Given the description of an element on the screen output the (x, y) to click on. 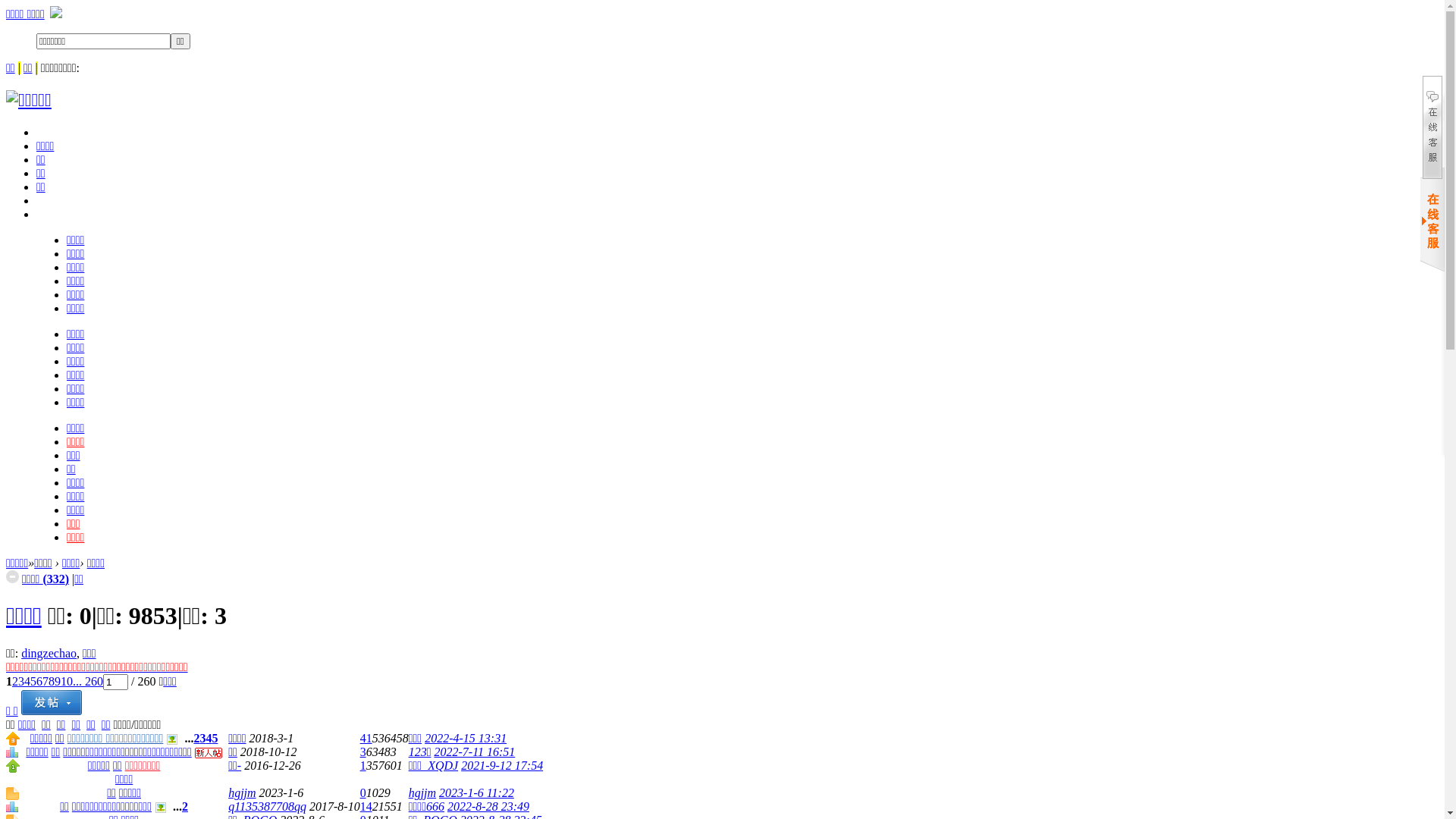
1 Element type: text (363, 765)
hgjjm Element type: text (422, 792)
q1135387708qq Element type: text (267, 806)
2022-4-15 13:31 Element type: text (465, 737)
2023-1-6 11:22 Element type: text (476, 792)
2022-7-11 16:51 Element type: text (473, 751)
3 Element type: text (202, 737)
10 Element type: text (66, 680)
2 Element type: text (185, 806)
3 Element type: text (21, 680)
4 Element type: text (208, 737)
41 Element type: text (366, 737)
0 Element type: text (363, 792)
5 Element type: text (33, 680)
3 Element type: text (363, 751)
hgjjm Element type: text (241, 792)
9 Element type: text (57, 680)
7 Element type: text (45, 680)
4 Element type: text (27, 680)
dingzechao Element type: text (48, 652)
14 Element type: text (366, 806)
... 260 Element type: text (87, 680)
8 Element type: text (51, 680)
2021-9-12 17:54 Element type: text (501, 765)
2 Element type: text (196, 737)
2 Element type: text (15, 680)
2022-8-28 23:49 Element type: text (488, 806)
6 Element type: text (39, 680)
5 Element type: text (214, 737)
